Given the description of an element on the screen output the (x, y) to click on. 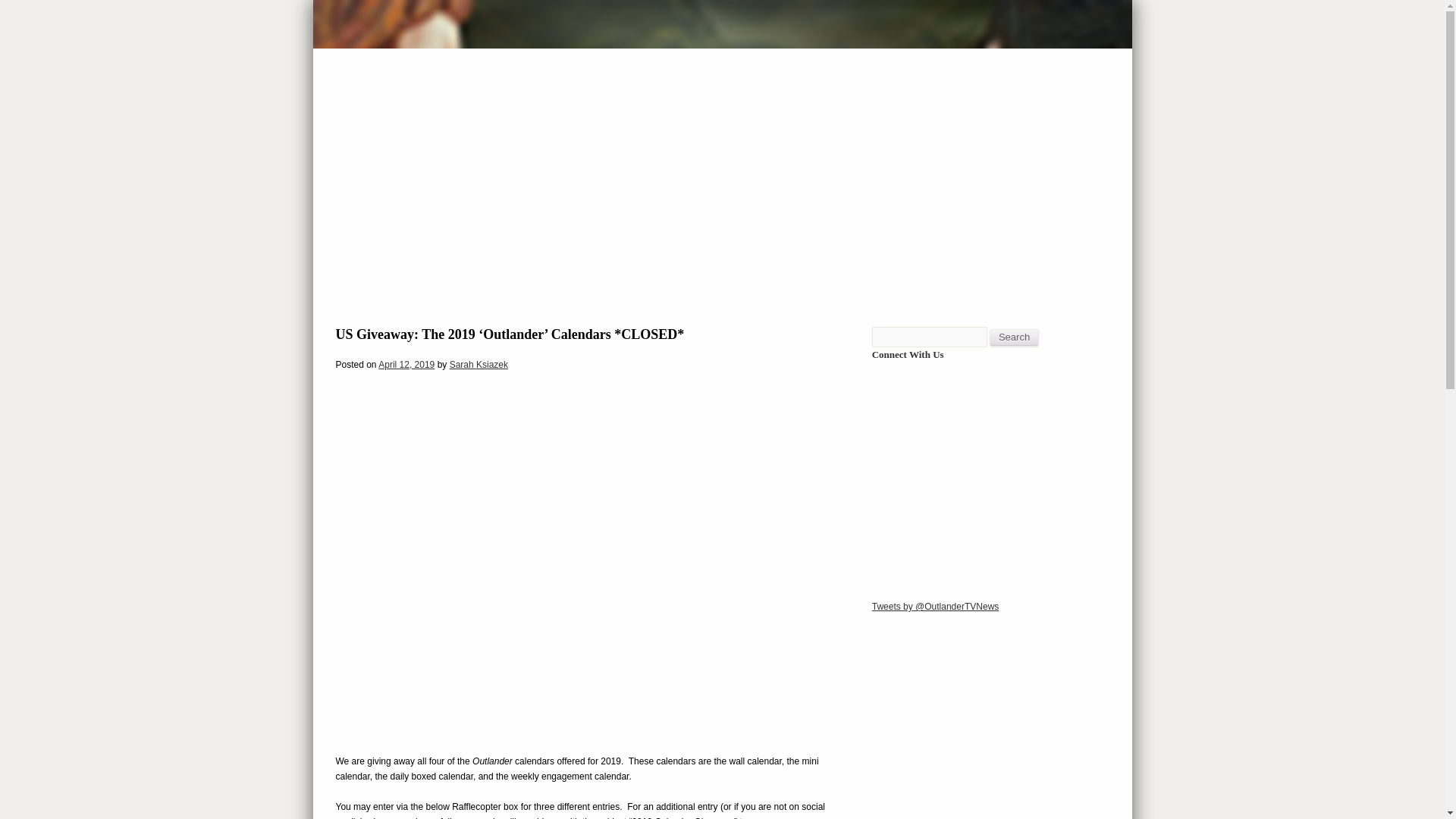
CONTACT US (861, 204)
12:01 AM (405, 364)
Search (1014, 337)
Search (1014, 337)
HOME (563, 204)
April 12, 2019 (405, 364)
View all posts by Sarah Ksiazek (478, 364)
WHERE TO WATCH (739, 204)
ABOUT (633, 204)
Sarah Ksiazek (478, 364)
